Given the description of an element on the screen output the (x, y) to click on. 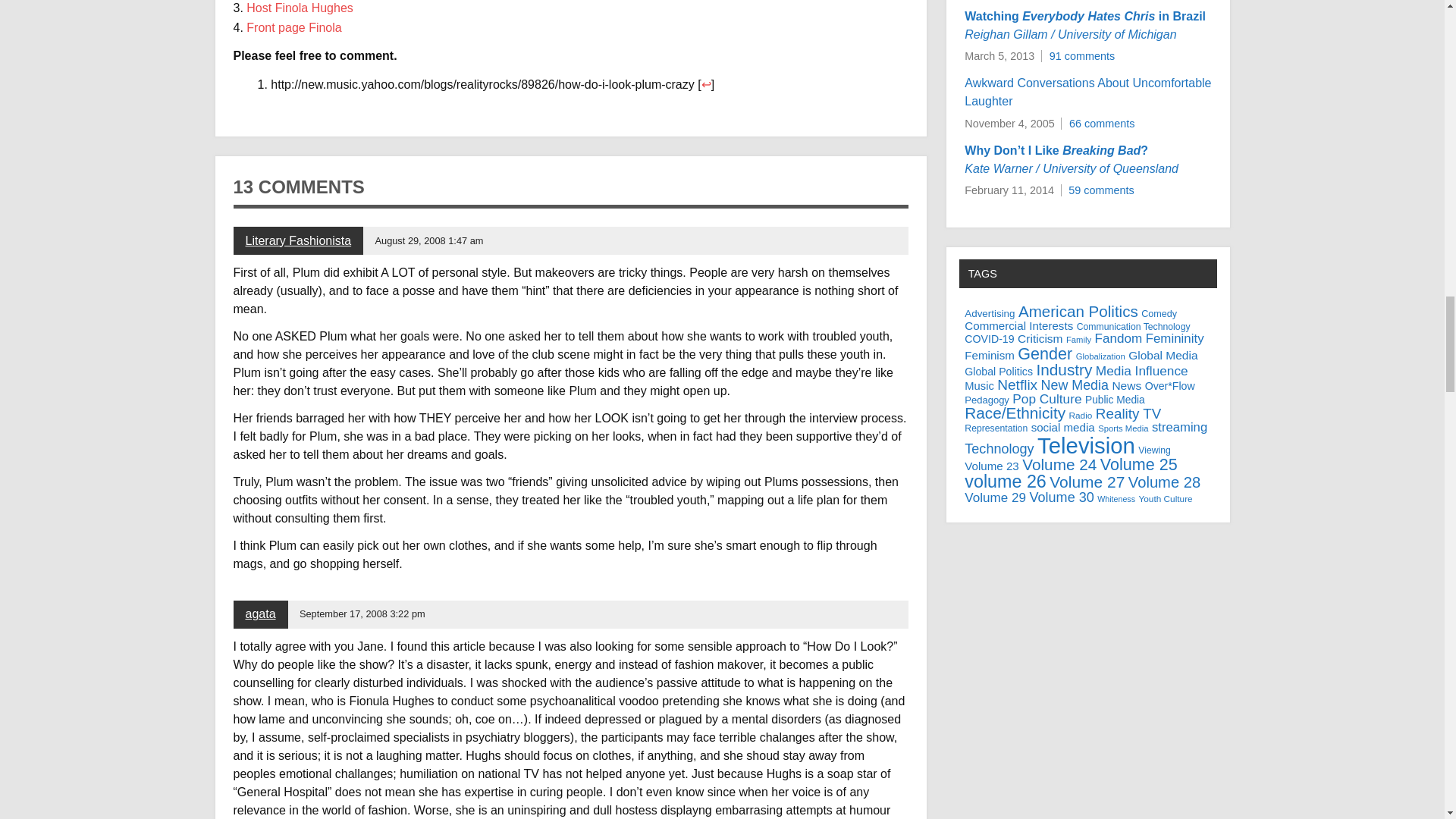
agata (261, 613)
Front page Finola (293, 27)
Literary Fashionista (299, 240)
September 17, 2008 3:22 pm (362, 613)
Host Finola Hughes (299, 7)
August 29, 2008 1:47 am (428, 240)
